Given the description of an element on the screen output the (x, y) to click on. 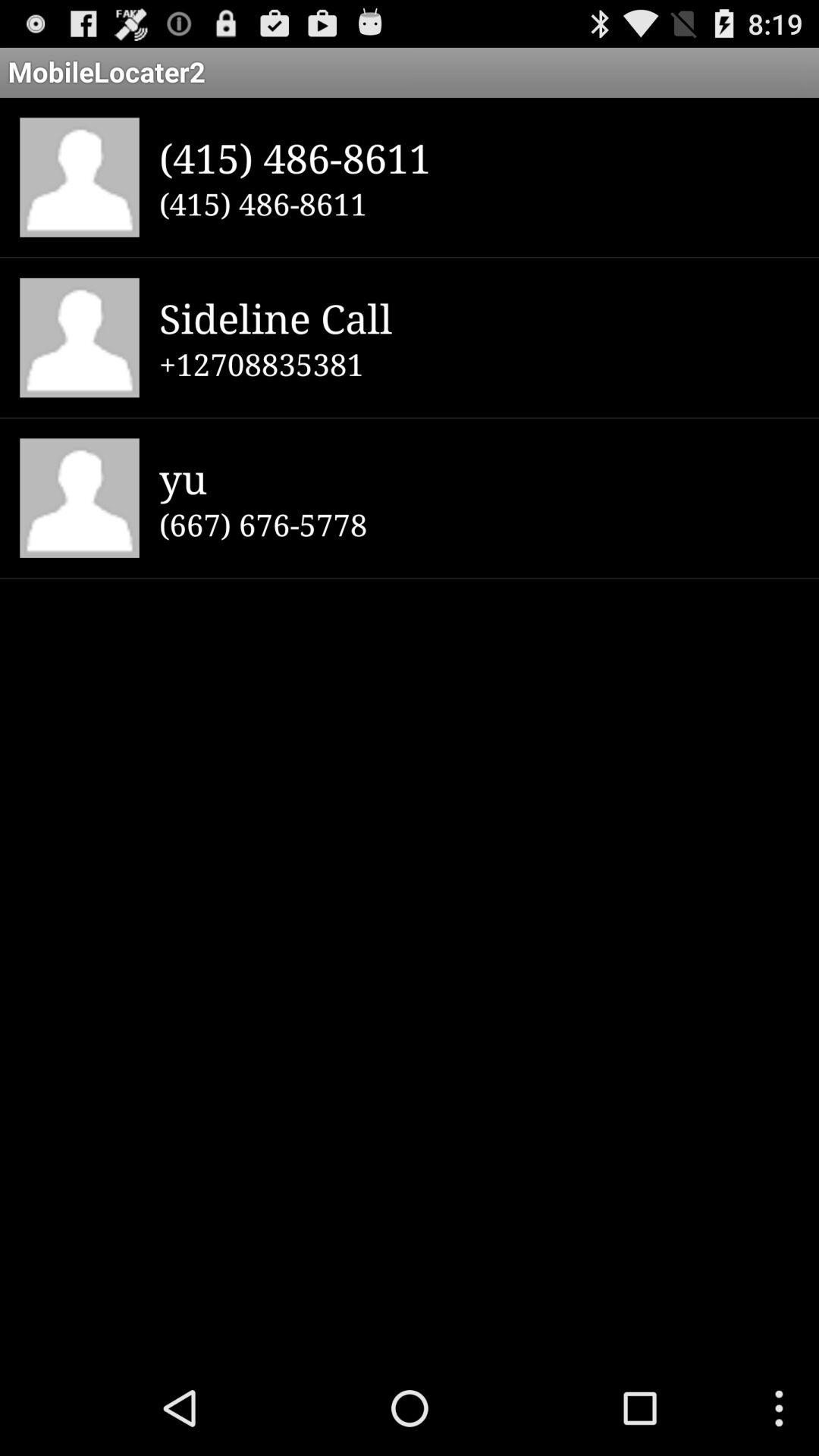
click sideline call app (479, 317)
